Given the description of an element on the screen output the (x, y) to click on. 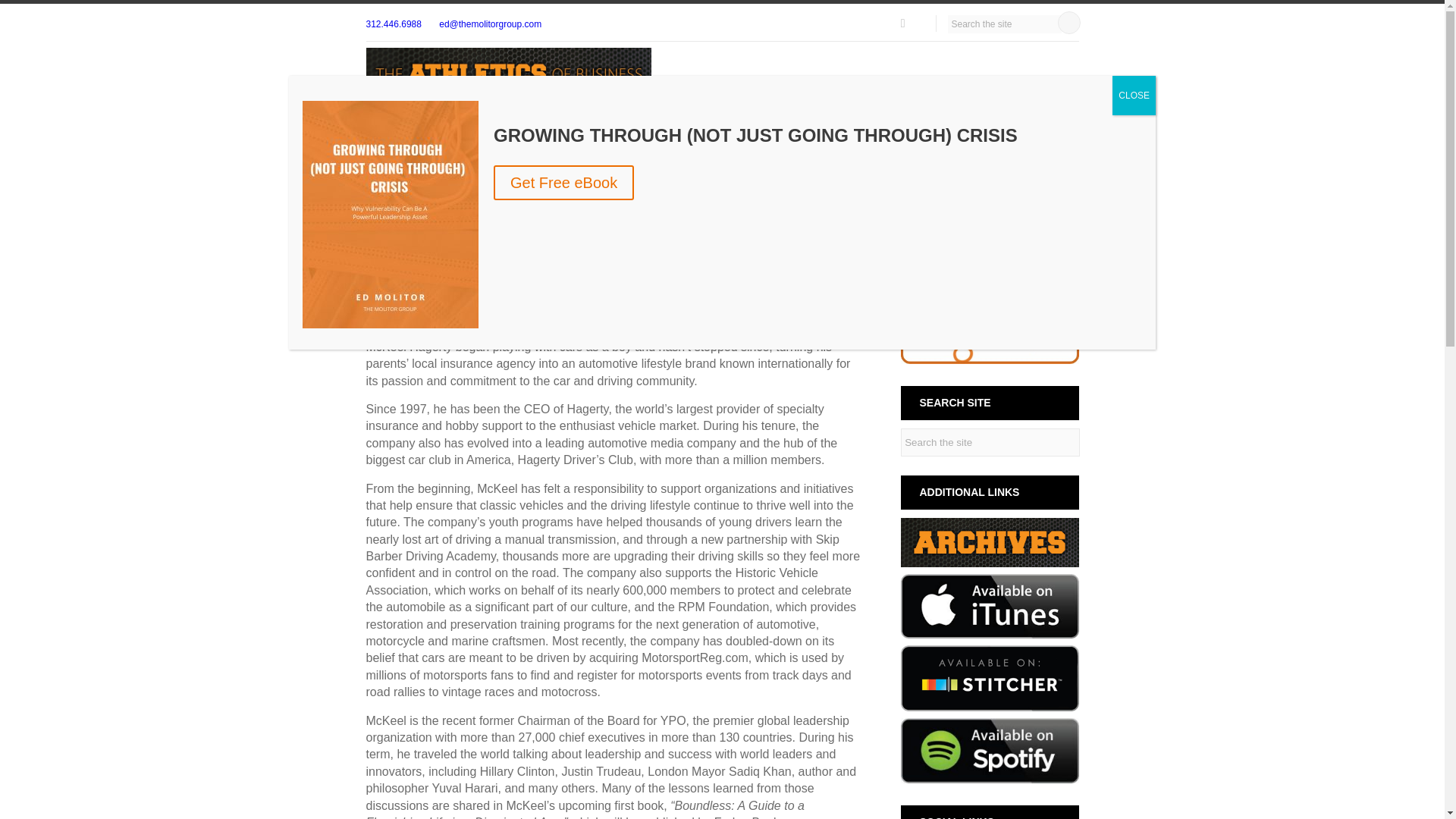
Search the site (1004, 24)
Download (805, 261)
More (834, 260)
312.446.6988 (392, 23)
Search the site (1004, 24)
CONTACT US (1034, 82)
ABOUT ED MOLITOR (932, 82)
Download (803, 260)
Search the site (990, 442)
